Given the description of an element on the screen output the (x, y) to click on. 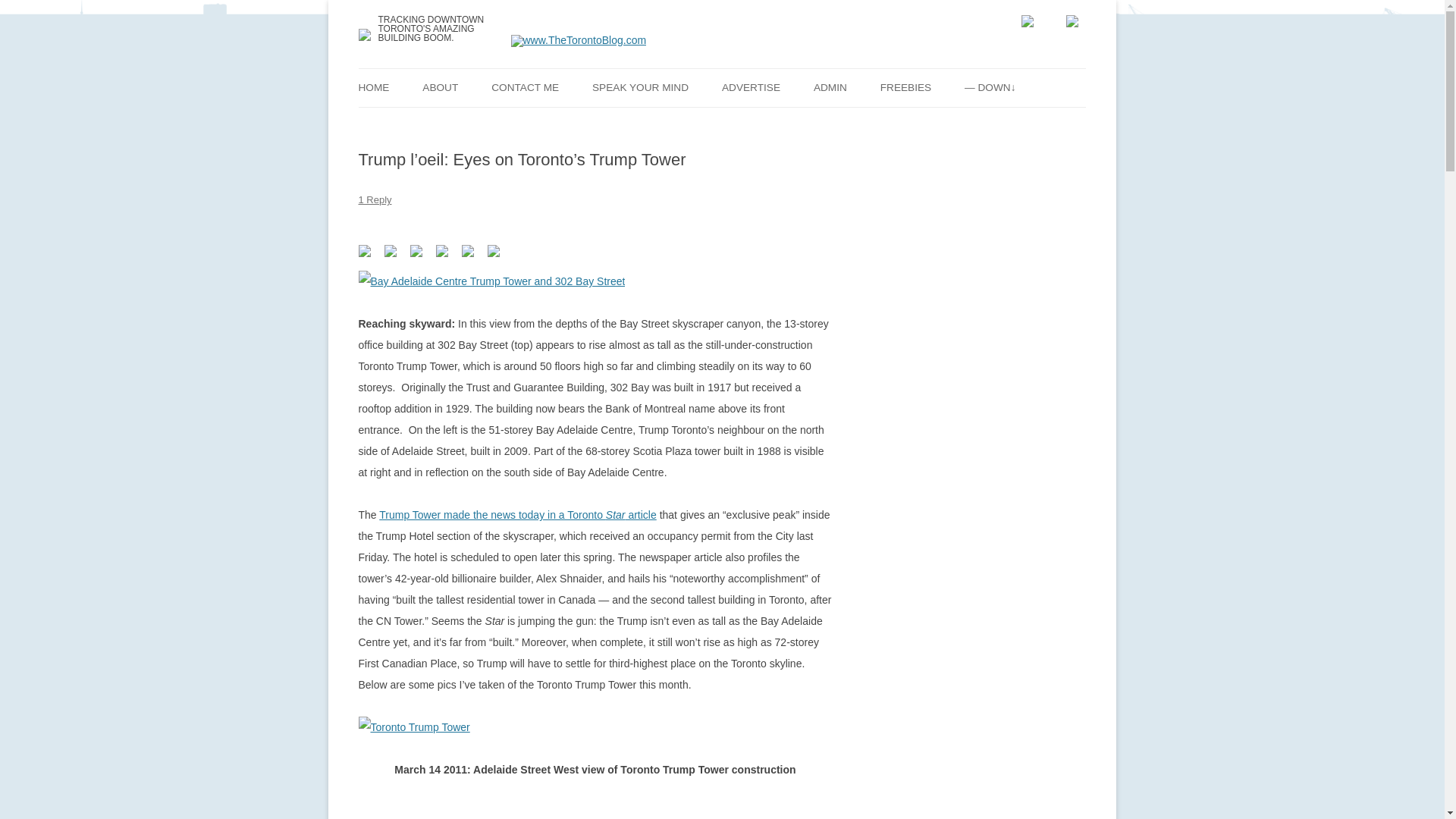
Trump Tower made the news today in a Toronto Star article (517, 514)
SPEAK YOUR MIND (640, 86)
Share on Linkedin (467, 250)
Adelaide Street West view of Trump Tower March 14 2011 (413, 726)
Share on Twitter (390, 250)
1 Reply (374, 199)
Pin it with Pinterest (440, 250)
FREEBIES (905, 86)
Share on Twitter (392, 253)
CONTACT ME (525, 86)
Pin it with Pinterest (443, 253)
Share on Facebook (366, 253)
Share on Reddit (418, 253)
